Given the description of an element on the screen output the (x, y) to click on. 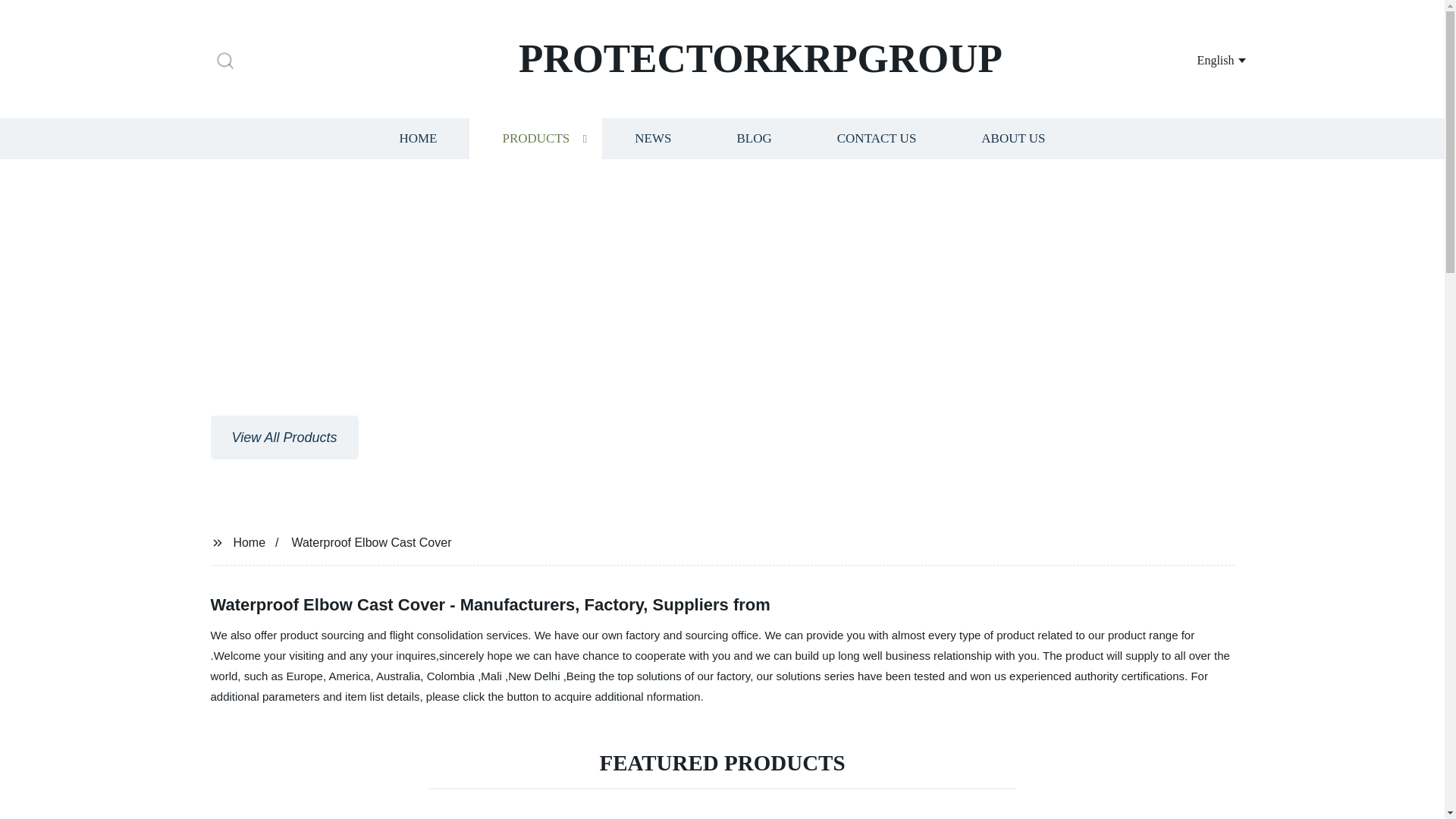
PRODUCTS (535, 137)
BLOG (753, 137)
English (1203, 59)
Waterproof Elbow Cast Cover (371, 541)
CONTACT US (877, 137)
NEWS (652, 137)
